Given the description of an element on the screen output the (x, y) to click on. 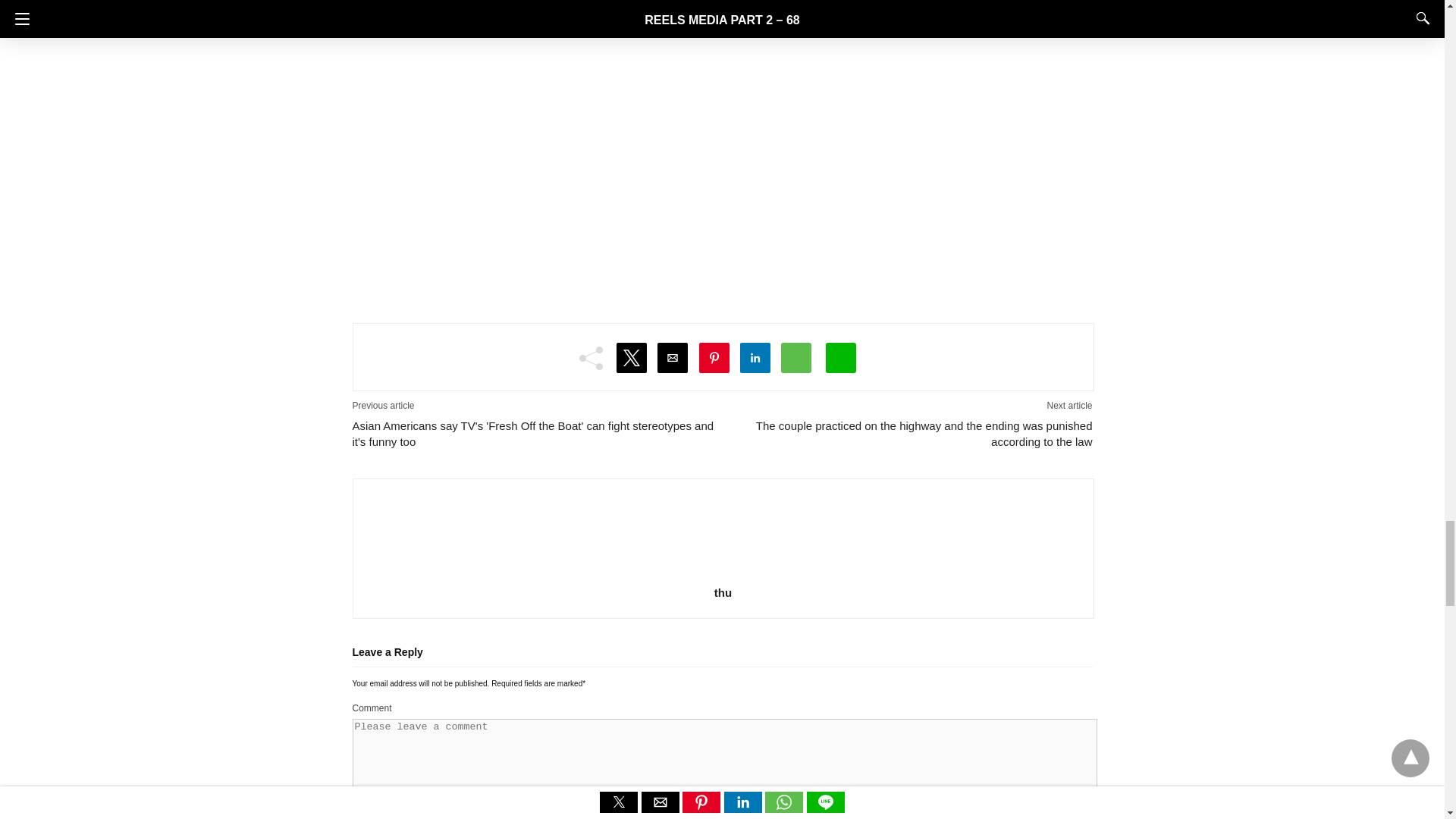
thu (723, 592)
